Given the description of an element on the screen output the (x, y) to click on. 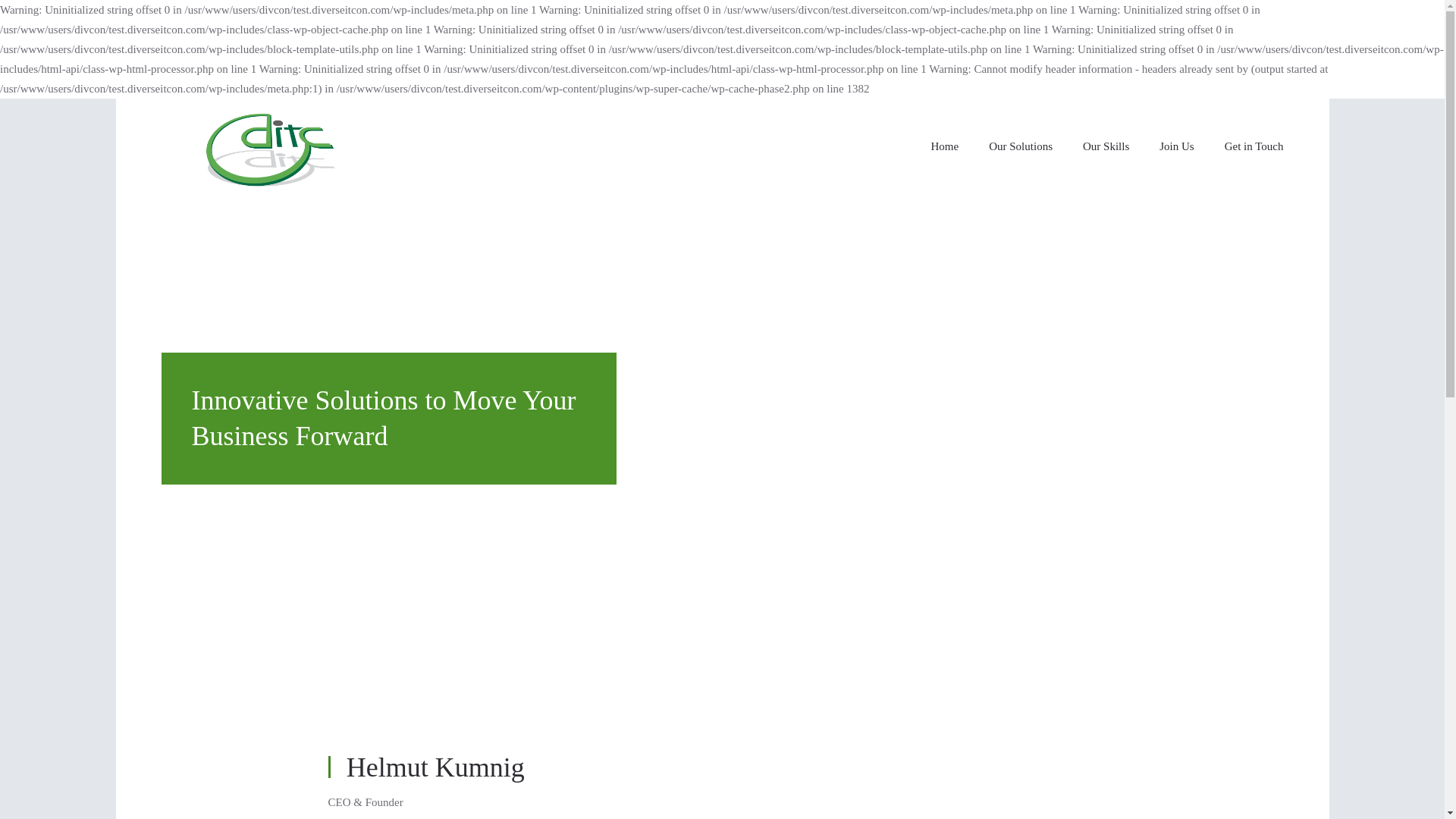
Our Skills (1105, 146)
Innovative Solutions to Move Your Business Forward (387, 418)
Get in Touch (1253, 146)
Our Solutions (1020, 146)
